Given the description of an element on the screen output the (x, y) to click on. 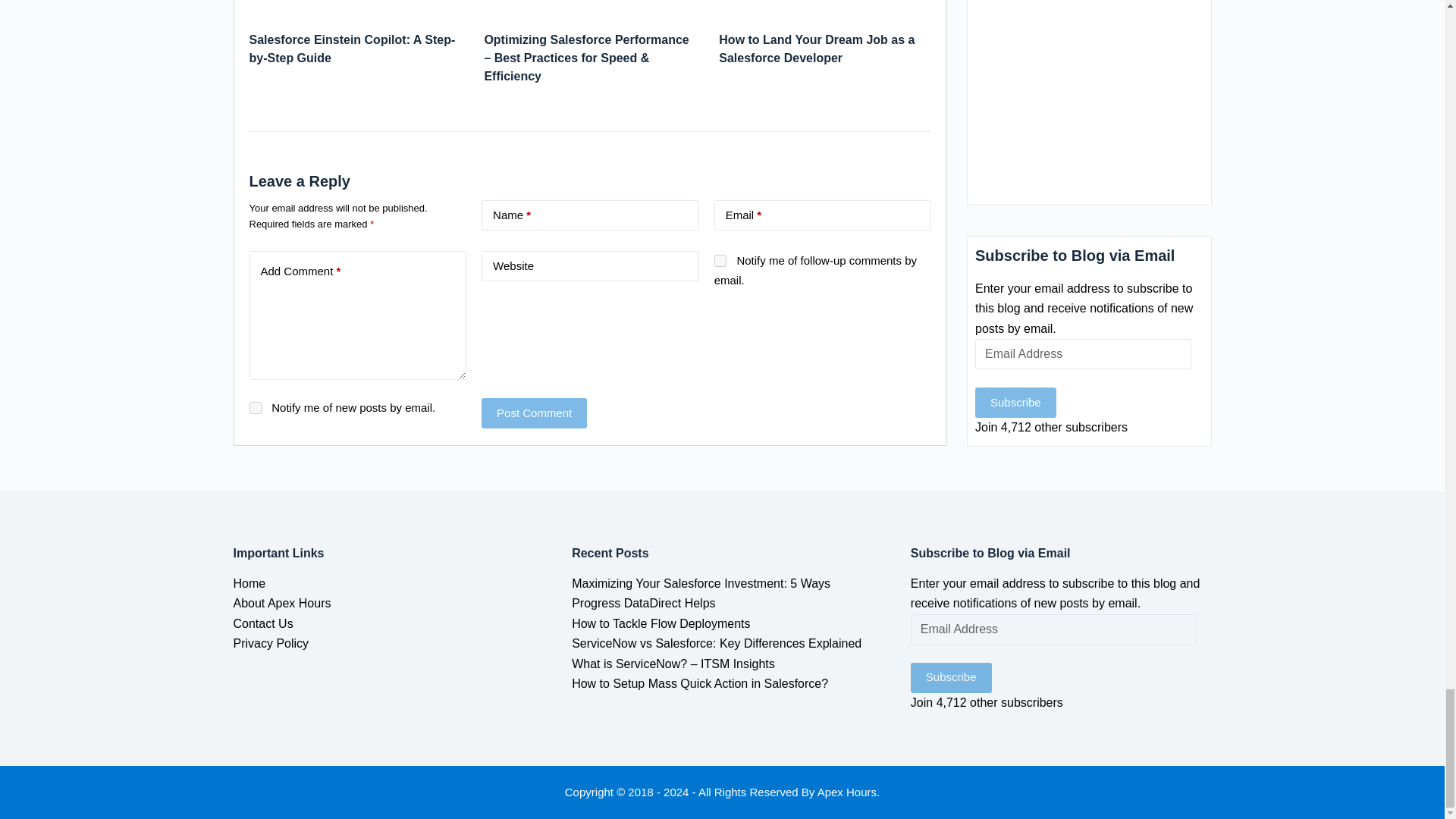
subscribe (720, 260)
subscribe (254, 408)
